Given the description of an element on the screen output the (x, y) to click on. 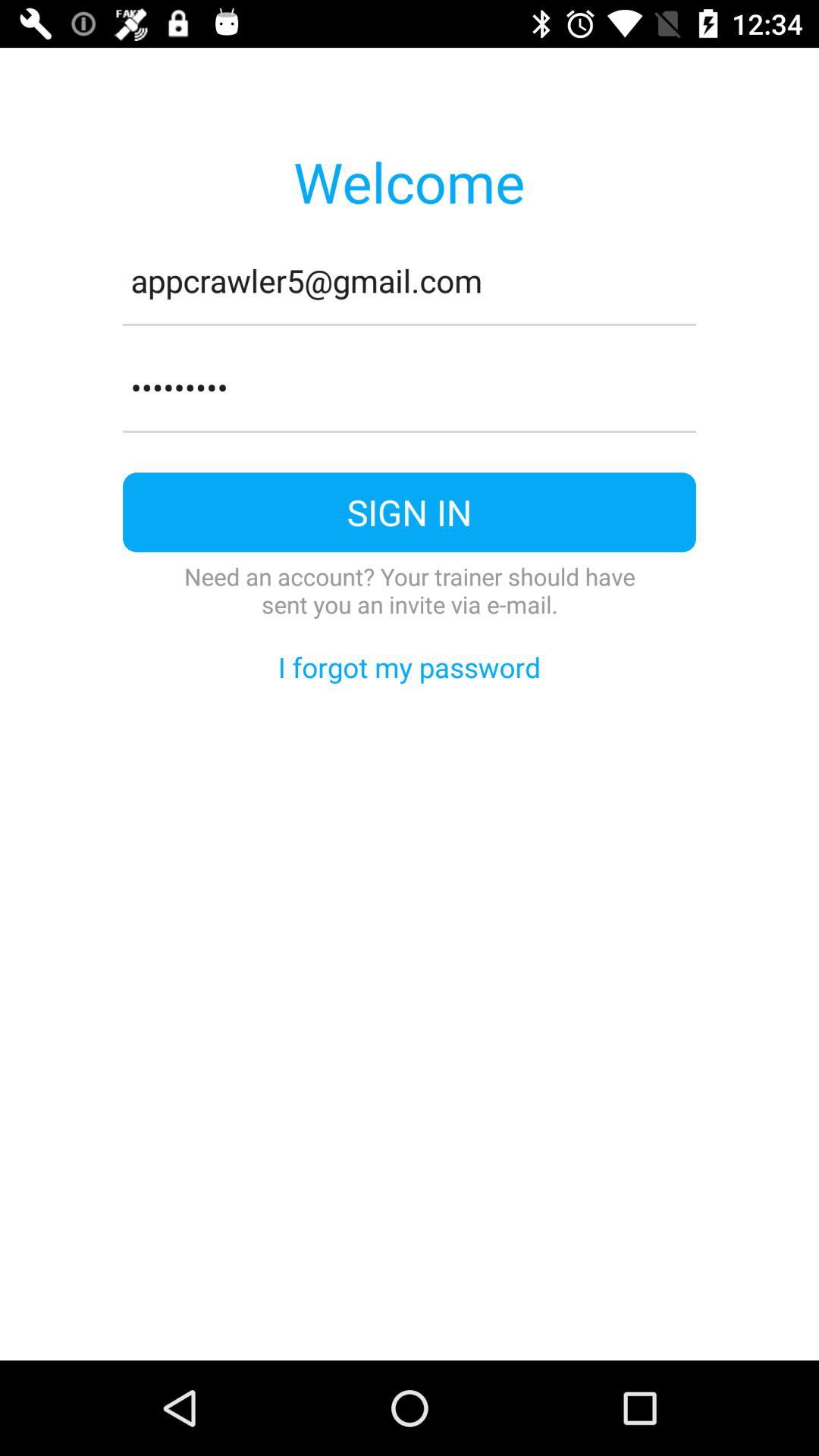
choose the need an account icon (409, 590)
